Given the description of an element on the screen output the (x, y) to click on. 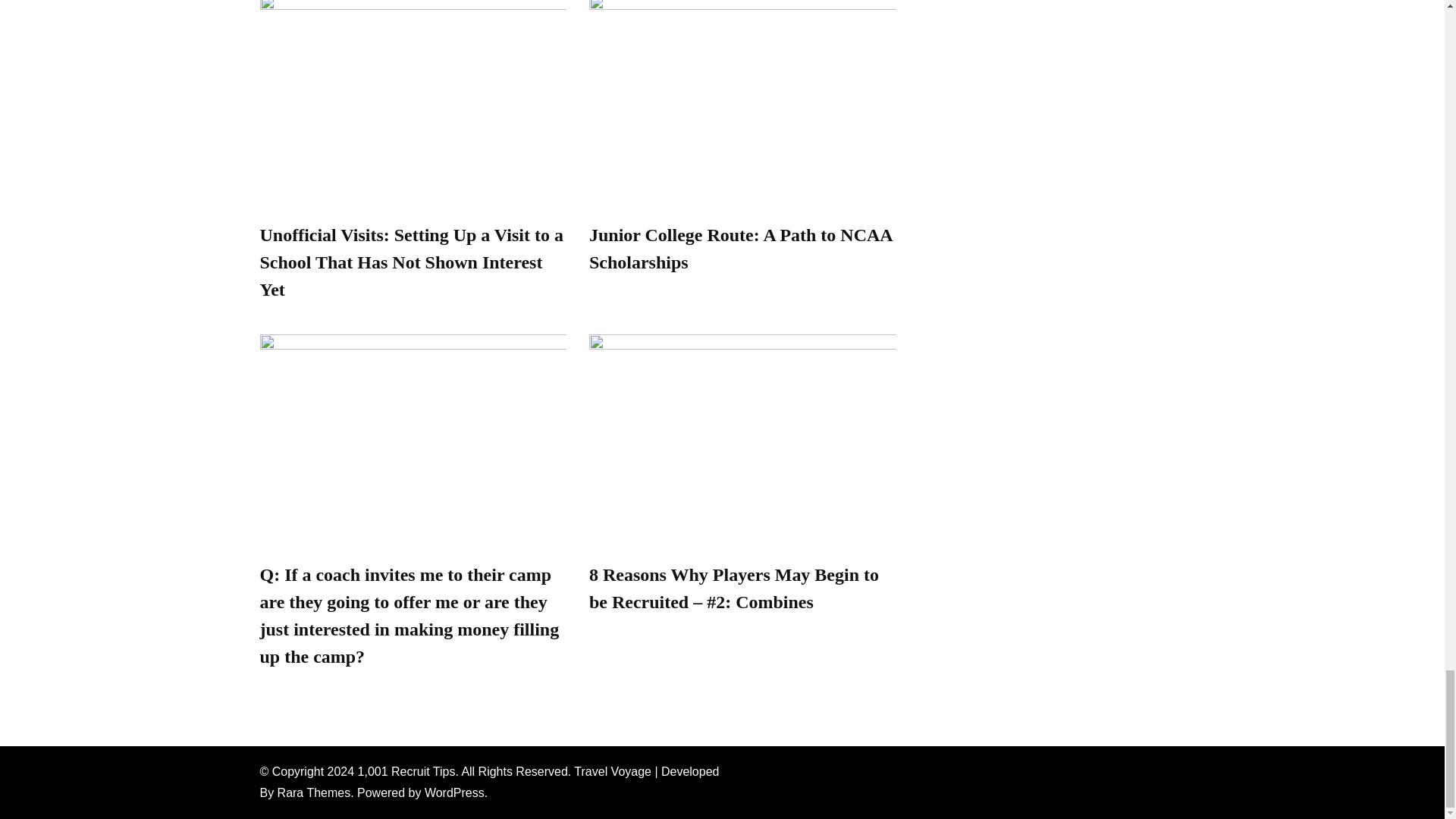
Junior College Route: A Path to NCAA Scholarships (740, 248)
